Given the description of an element on the screen output the (x, y) to click on. 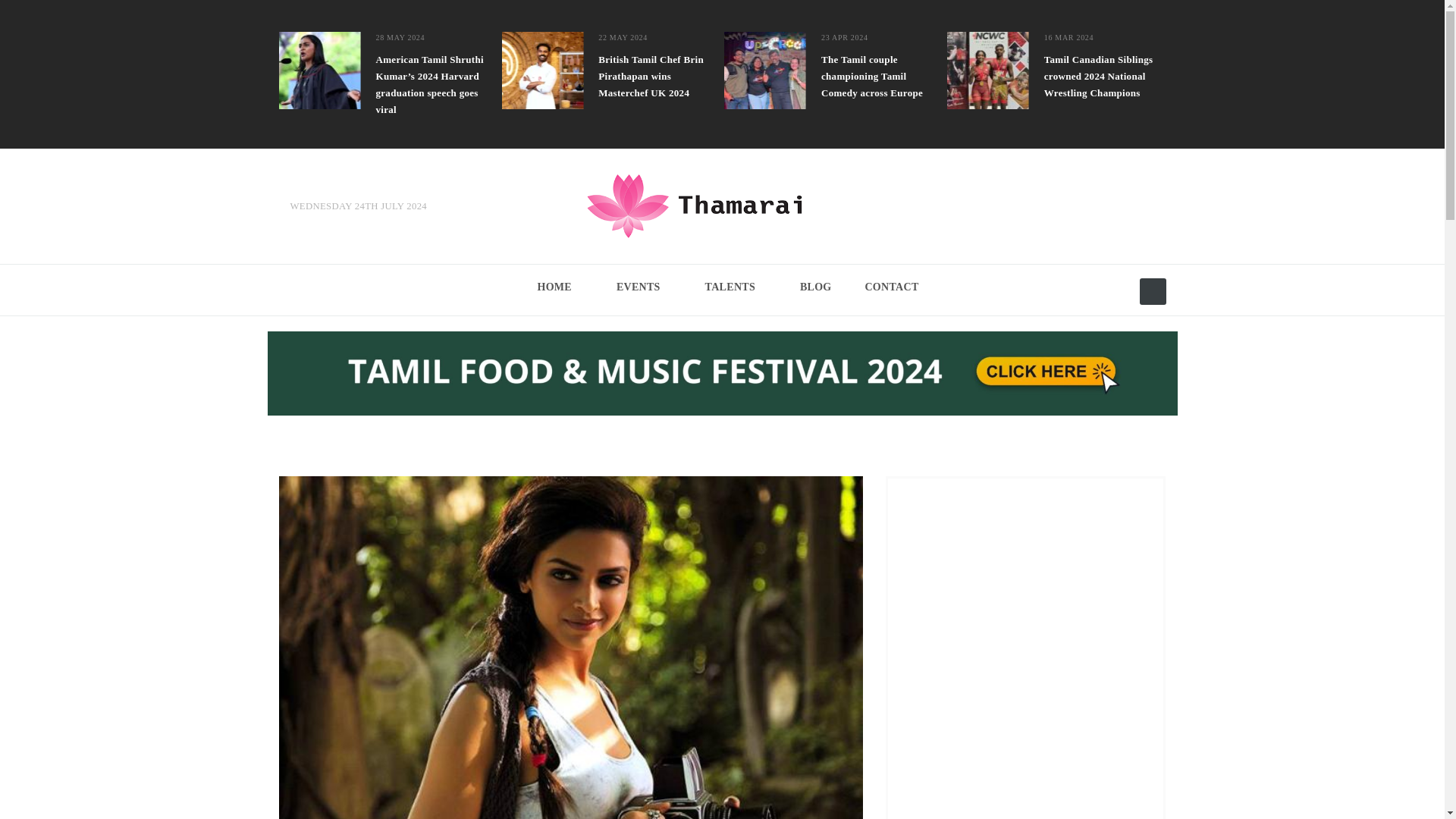
28 MAY 2024 (398, 37)
16 MAR 2024 (1067, 37)
British Tamil Chef Brin Pirathapan wins Masterchef UK 2024 (659, 76)
The Tamil couple championing Tamil Comedy across Europe (882, 76)
23 APR 2024 (842, 37)
22 MAY 2024 (621, 37)
